Given the description of an element on the screen output the (x, y) to click on. 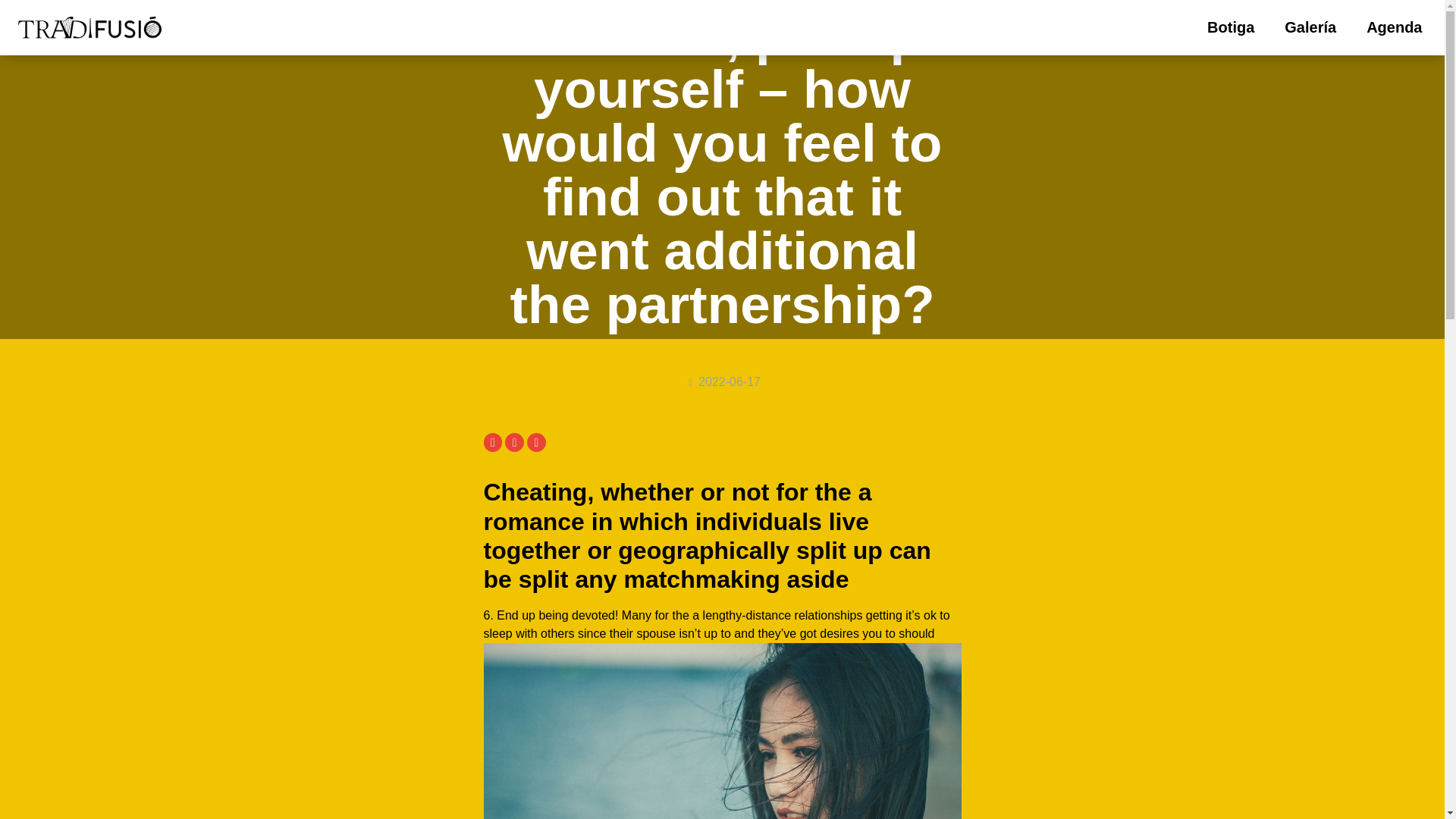
2022-06-17 (722, 382)
Botiga (1230, 27)
Agenda (1394, 27)
